Given the description of an element on the screen output the (x, y) to click on. 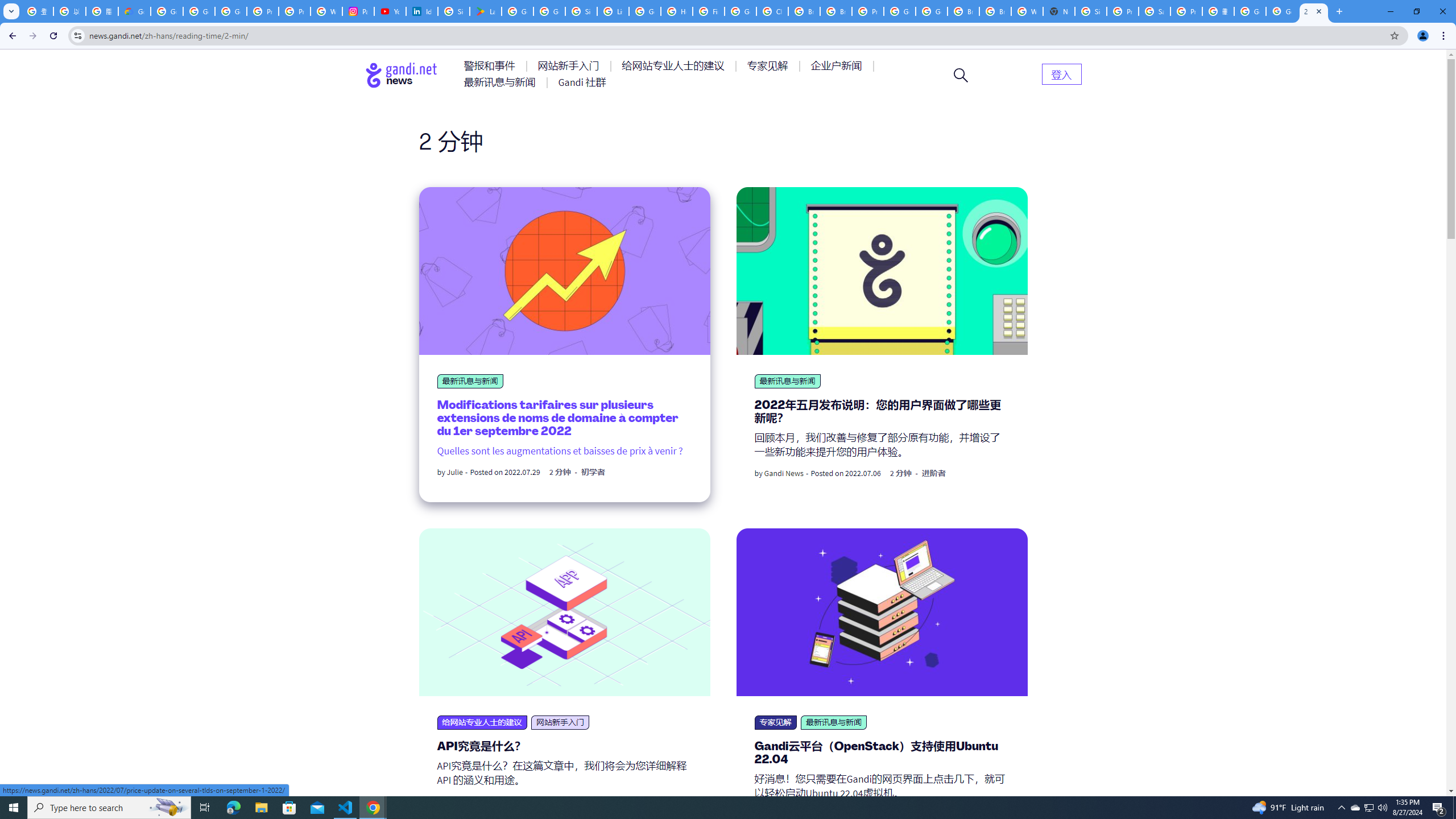
AutomationID: menu-item-77765 (838, 65)
Google Workspace - Specific Terms (549, 11)
Sign in - Google Accounts (453, 11)
